Given the description of an element on the screen output the (x, y) to click on. 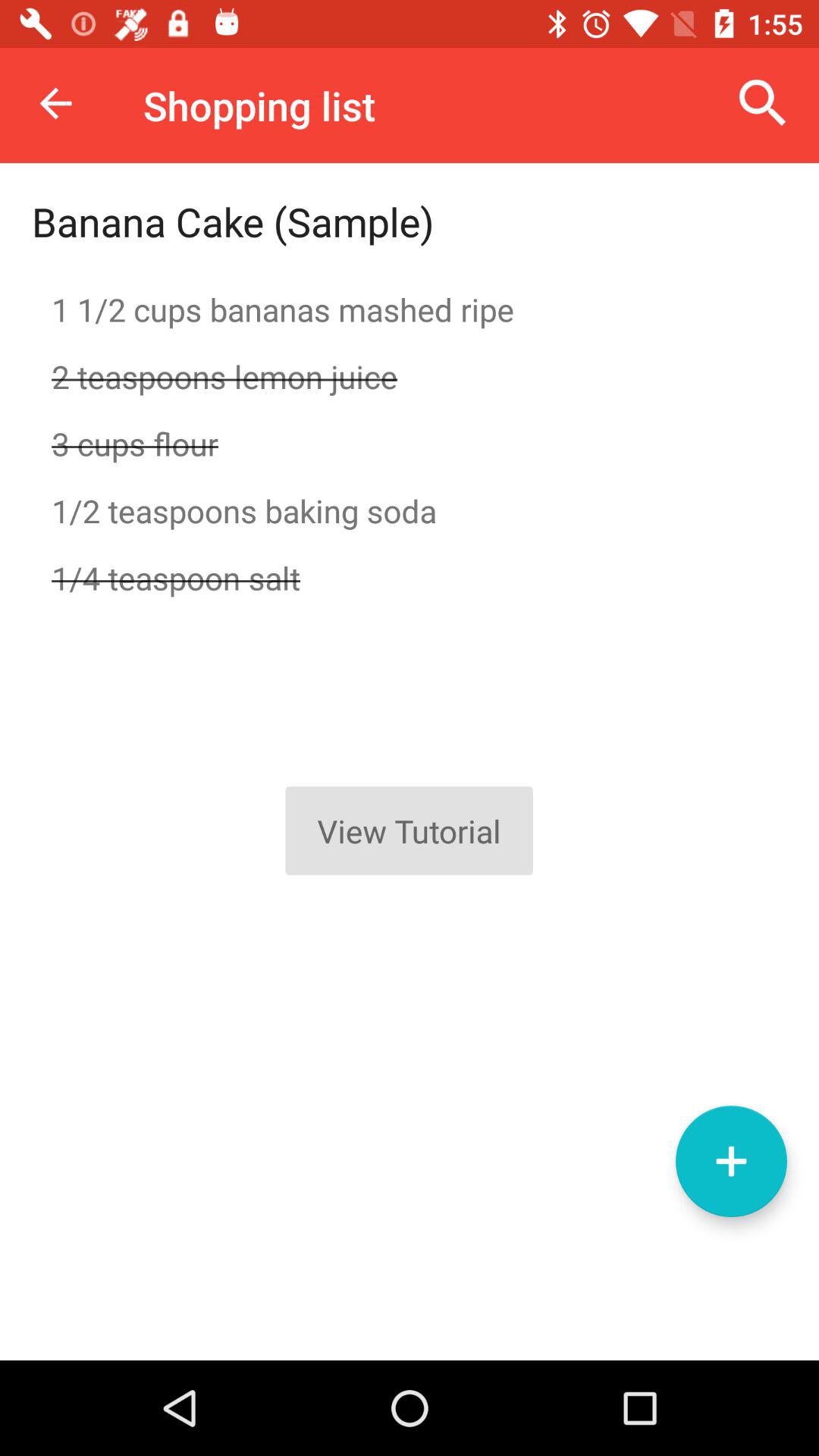
add to list (731, 1161)
